Given the description of an element on the screen output the (x, y) to click on. 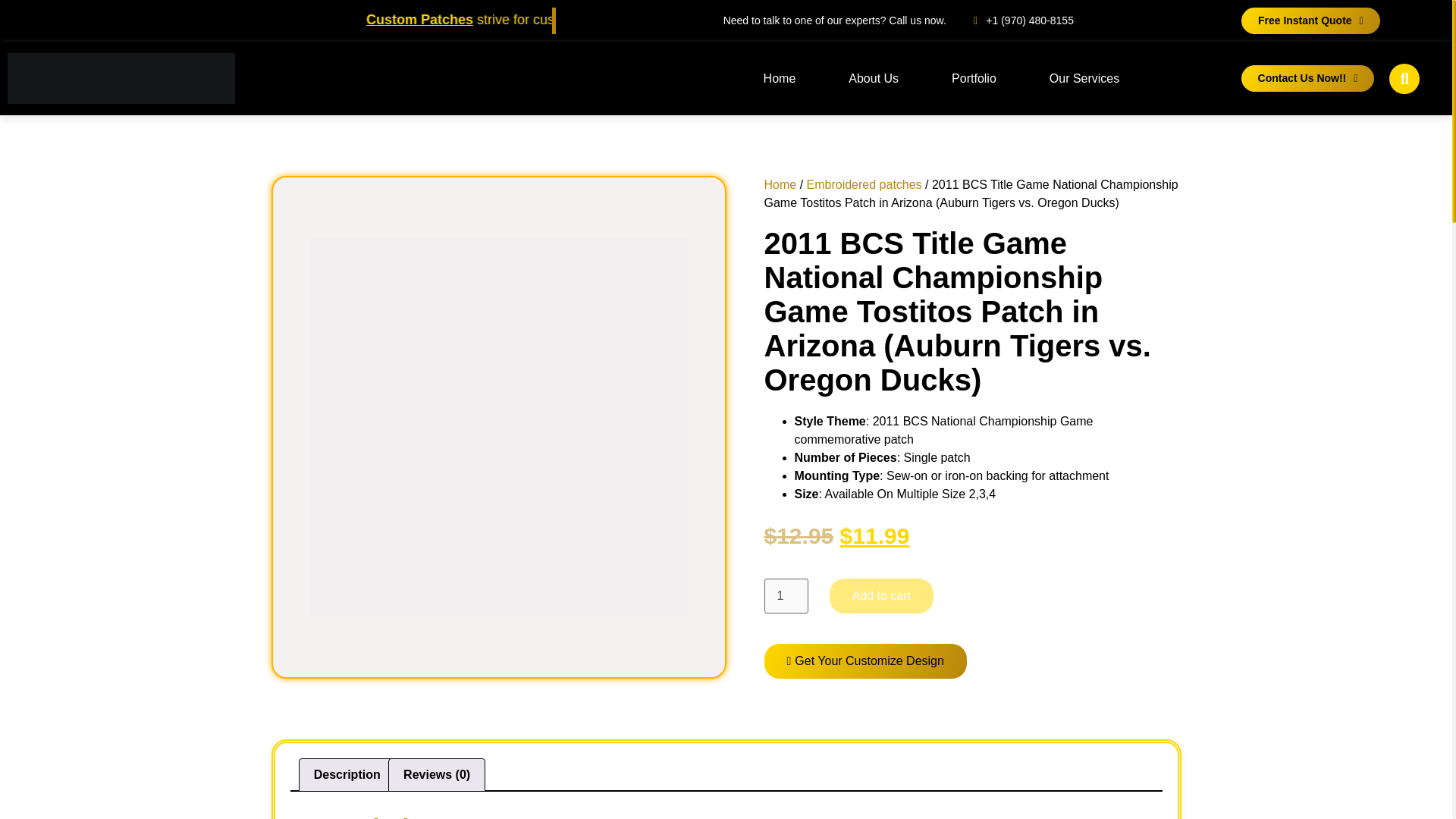
Our Services (1083, 78)
Embroidered patches (863, 184)
1 (786, 595)
Contact Us Now!! (1307, 78)
About Us (873, 78)
Free Instant Quote (1310, 20)
Get Your Customize Design (865, 660)
Home (779, 78)
Add to cart (881, 595)
Portfolio (973, 78)
